Given the description of an element on the screen output the (x, y) to click on. 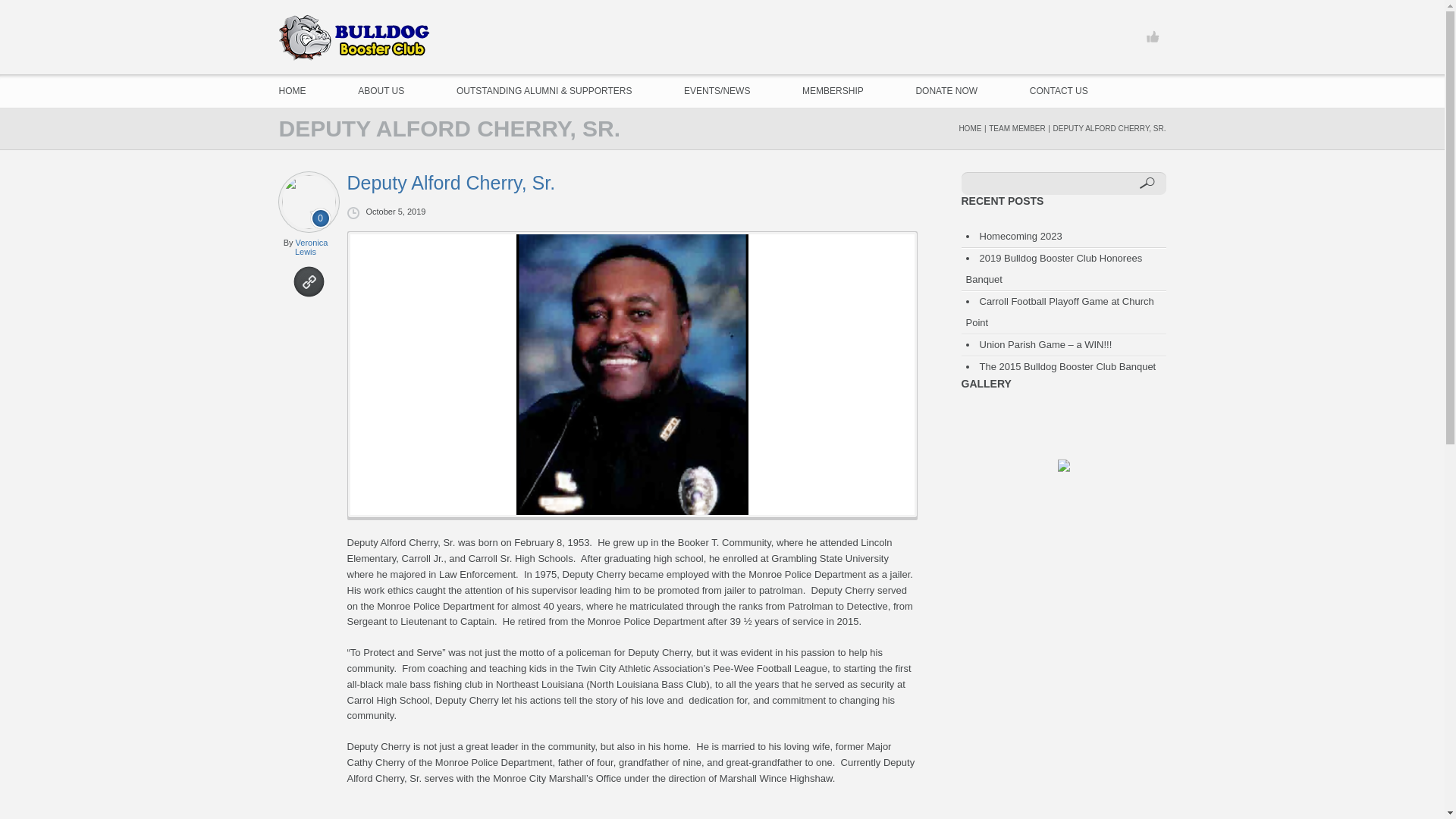
2019 Bulldog Booster Club Honorees Banquet (1054, 267)
Search (1146, 183)
Bulldog Booster Club (356, 37)
Facebook (1152, 37)
CONTACT US (1058, 90)
DONATE NOW (945, 90)
Posts by Veronica Lewis (311, 247)
HOME (292, 90)
Homecoming 2023 (1020, 235)
Deputy Alford Cherry, Sr. (631, 182)
HOME (969, 128)
MEMBERSHIP (833, 90)
Veronica Lewis (311, 247)
Search (1146, 183)
Carroll Football Playoff Game at Church Point (1060, 311)
